Given the description of an element on the screen output the (x, y) to click on. 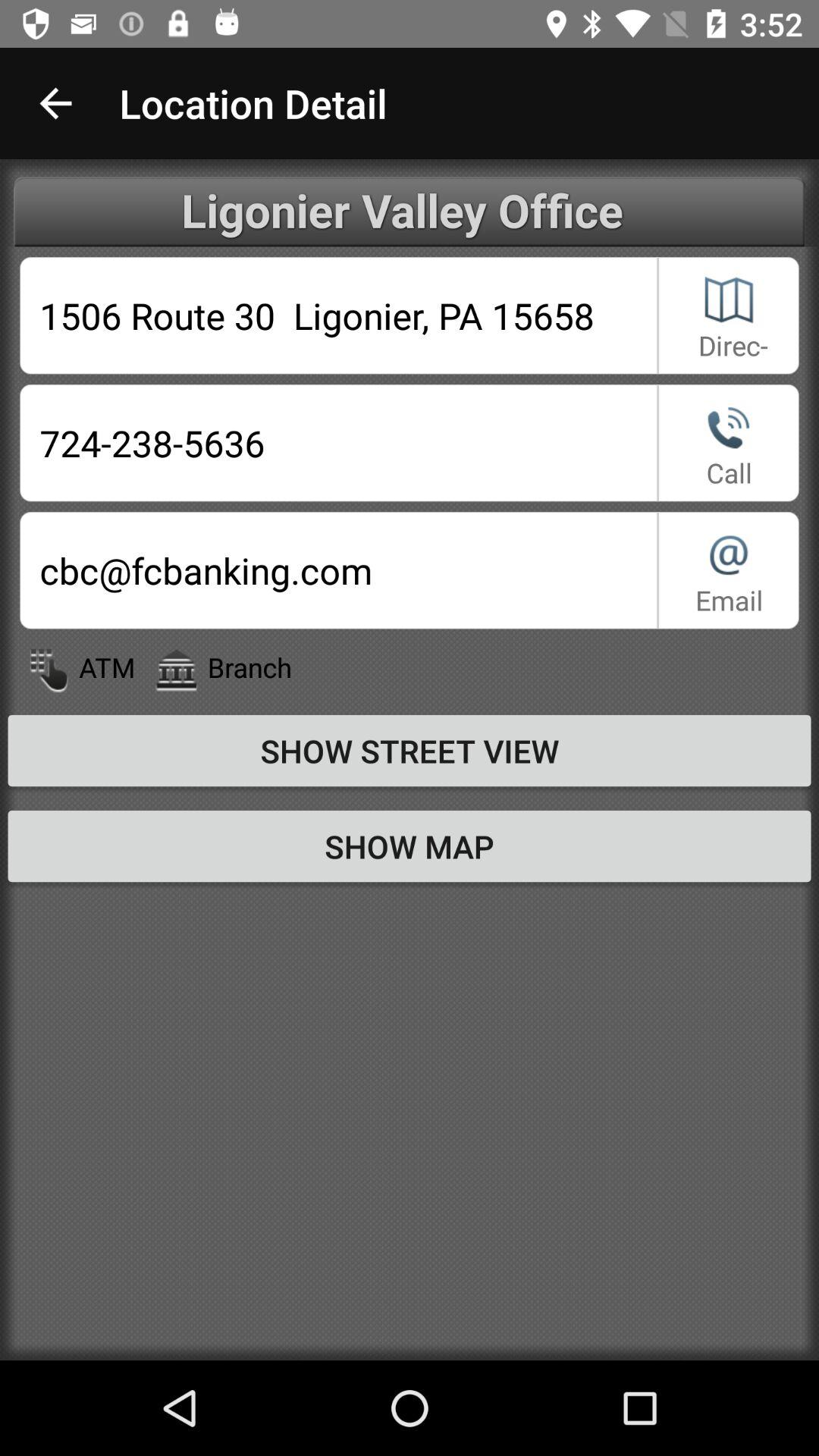
jump until the show map item (409, 846)
